Given the description of an element on the screen output the (x, y) to click on. 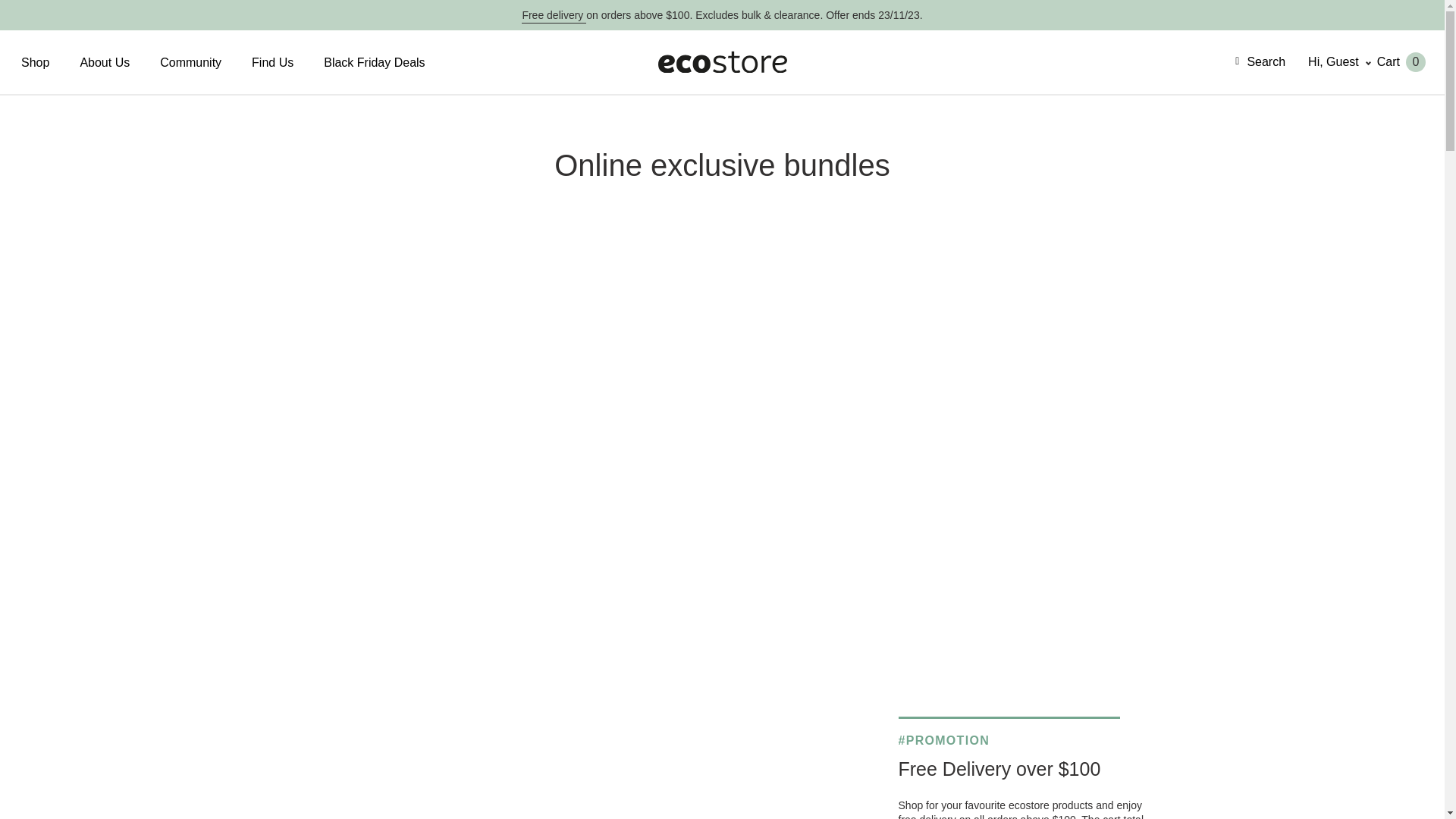
Find Us Element type: text (272, 61)
Cart
0 Element type: text (1410, 61)
About Us Element type: text (104, 61)
Black Friday Deals Element type: text (373, 61)
Community Element type: text (190, 61)
Free delivery Element type: text (553, 16)
Shop Element type: text (35, 61)
